Given the description of an element on the screen output the (x, y) to click on. 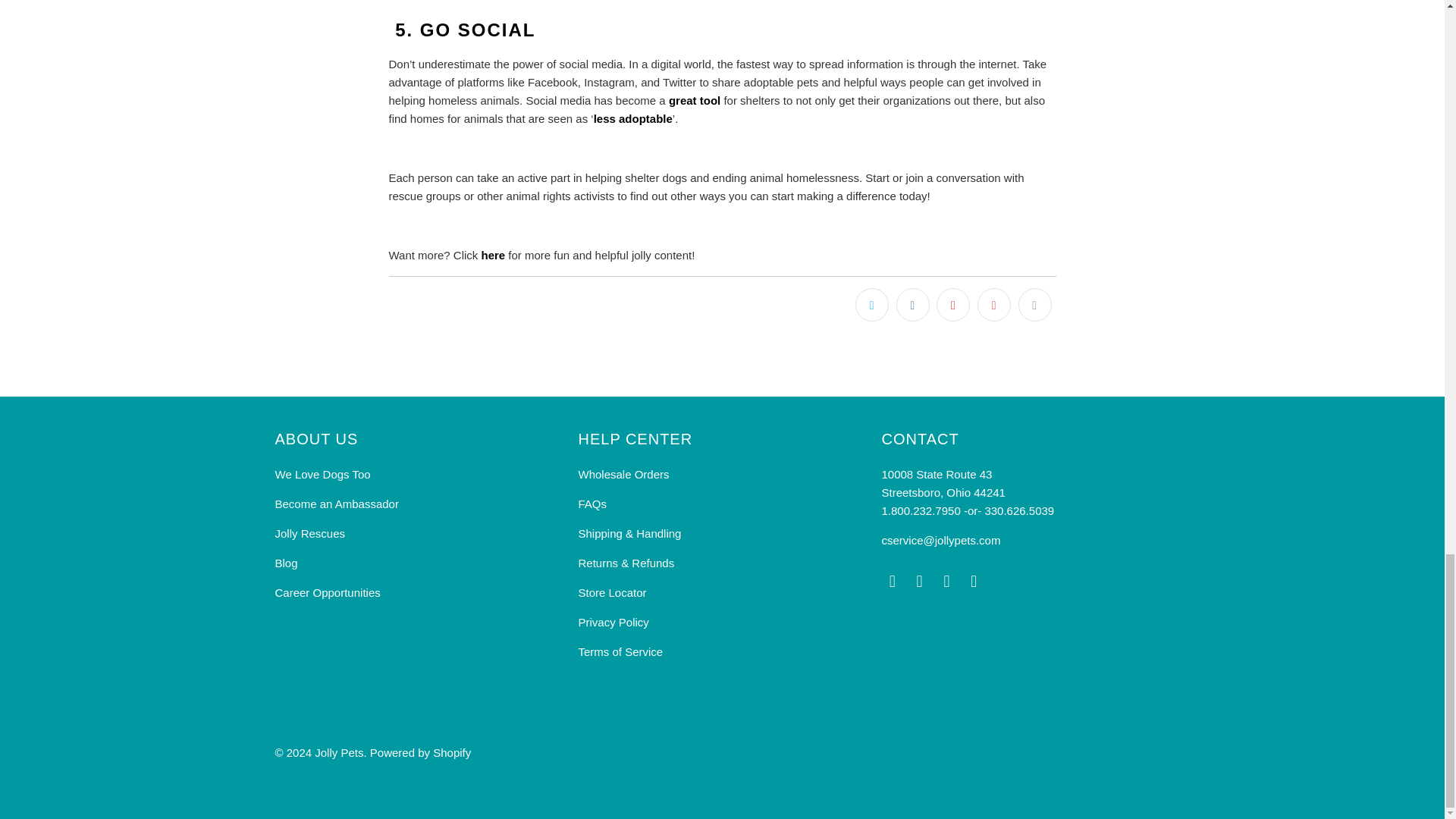
Less Adoptable Dogs Need Homes Too (633, 118)
Jolly Pets Blog (492, 254)
Social Media An Important Tool For Shelters ASPCA (694, 100)
